Given the description of an element on the screen output the (x, y) to click on. 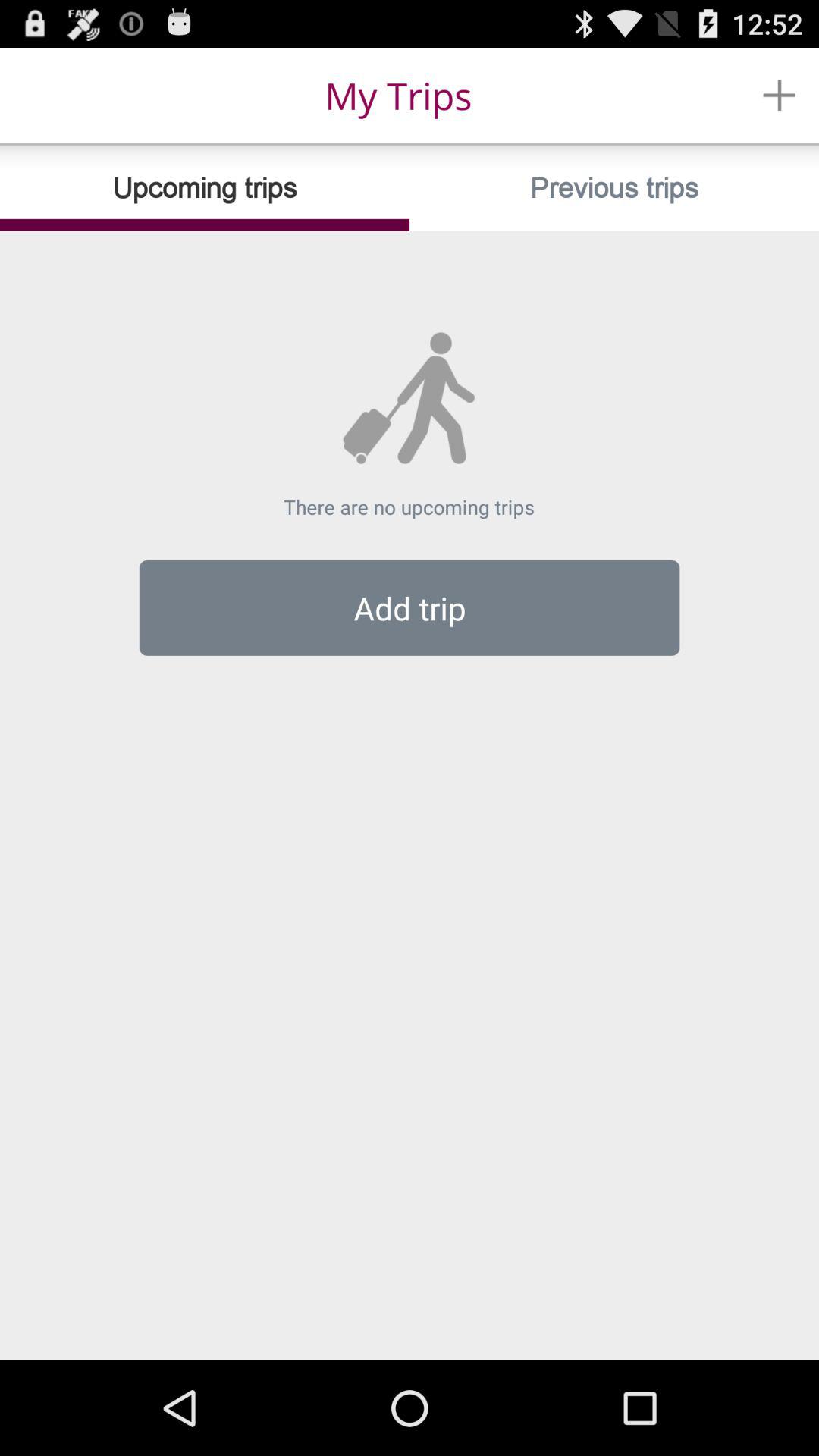
turn on icon next to my trips icon (779, 95)
